Given the description of an element on the screen output the (x, y) to click on. 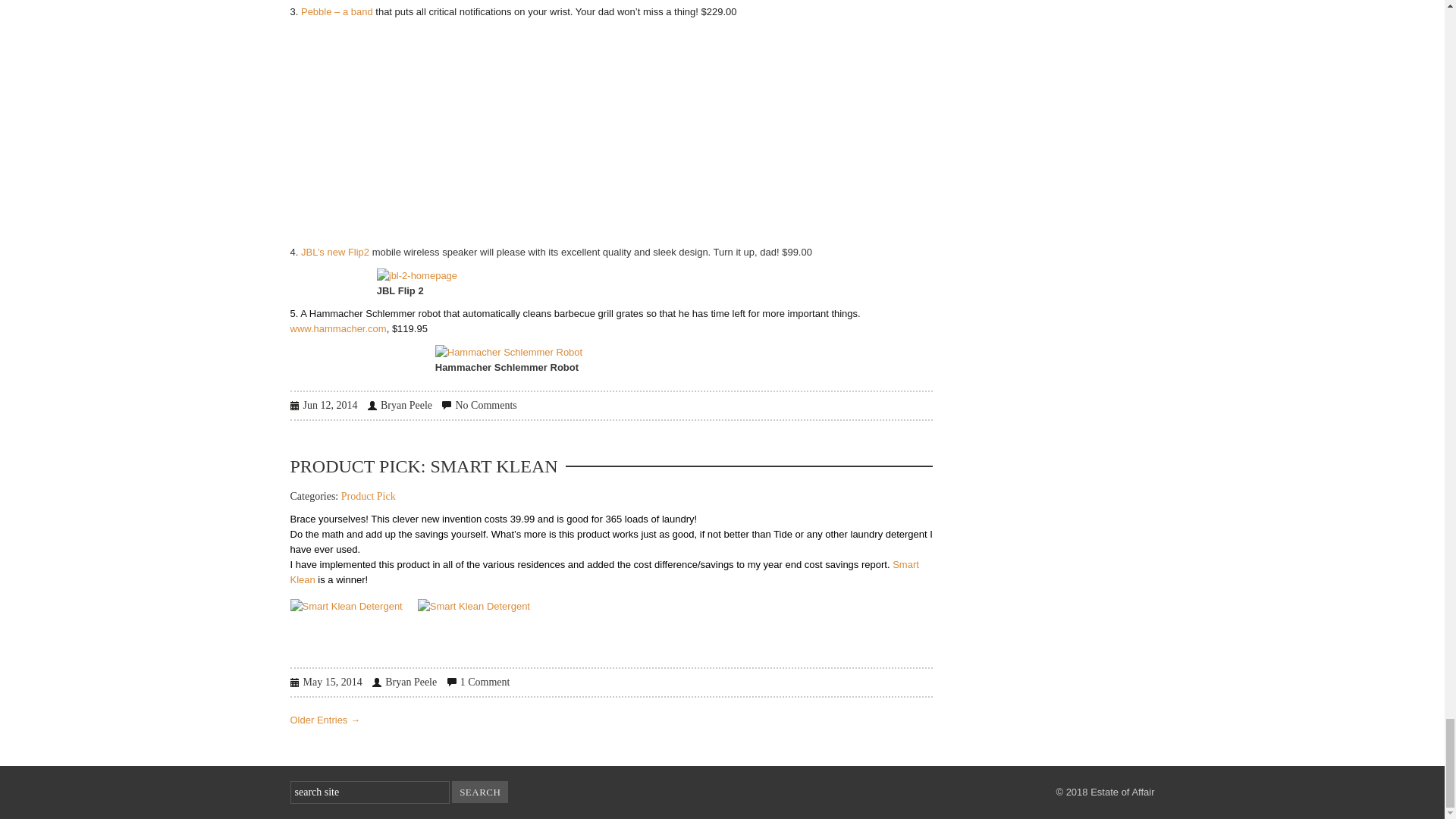
View all posts in Product Pick (368, 496)
